Given the description of an element on the screen output the (x, y) to click on. 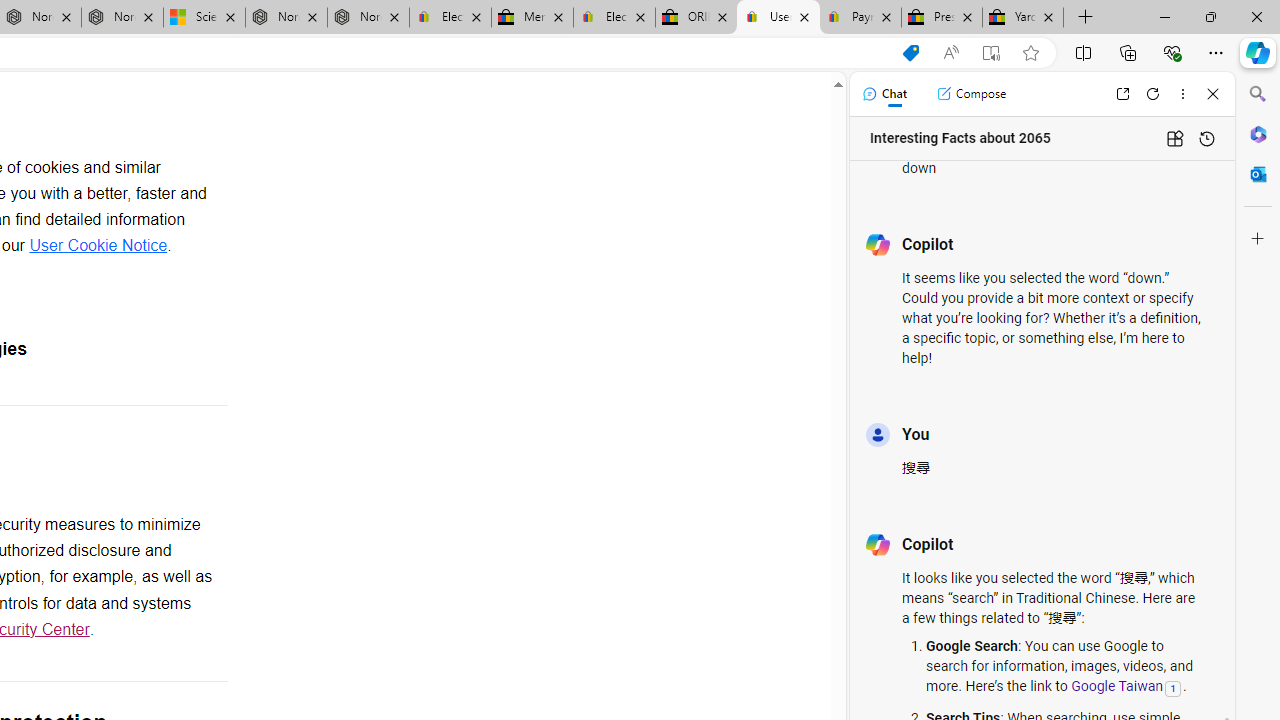
User Cookie Notice (98, 245)
